Given the description of an element on the screen output the (x, y) to click on. 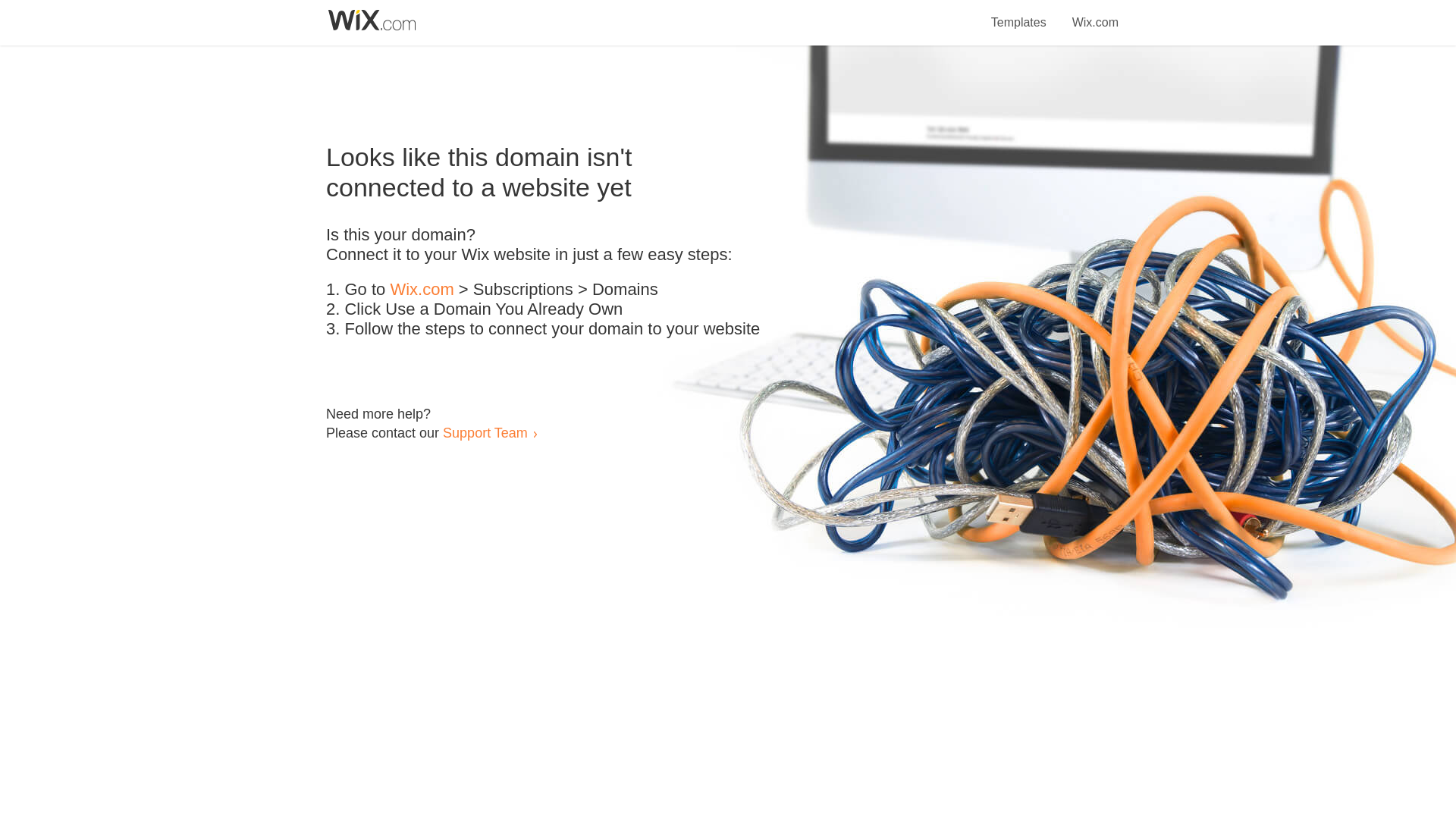
Wix.com (1095, 14)
Wix.com (421, 289)
Support Team (484, 432)
Templates (1018, 14)
